Given the description of an element on the screen output the (x, y) to click on. 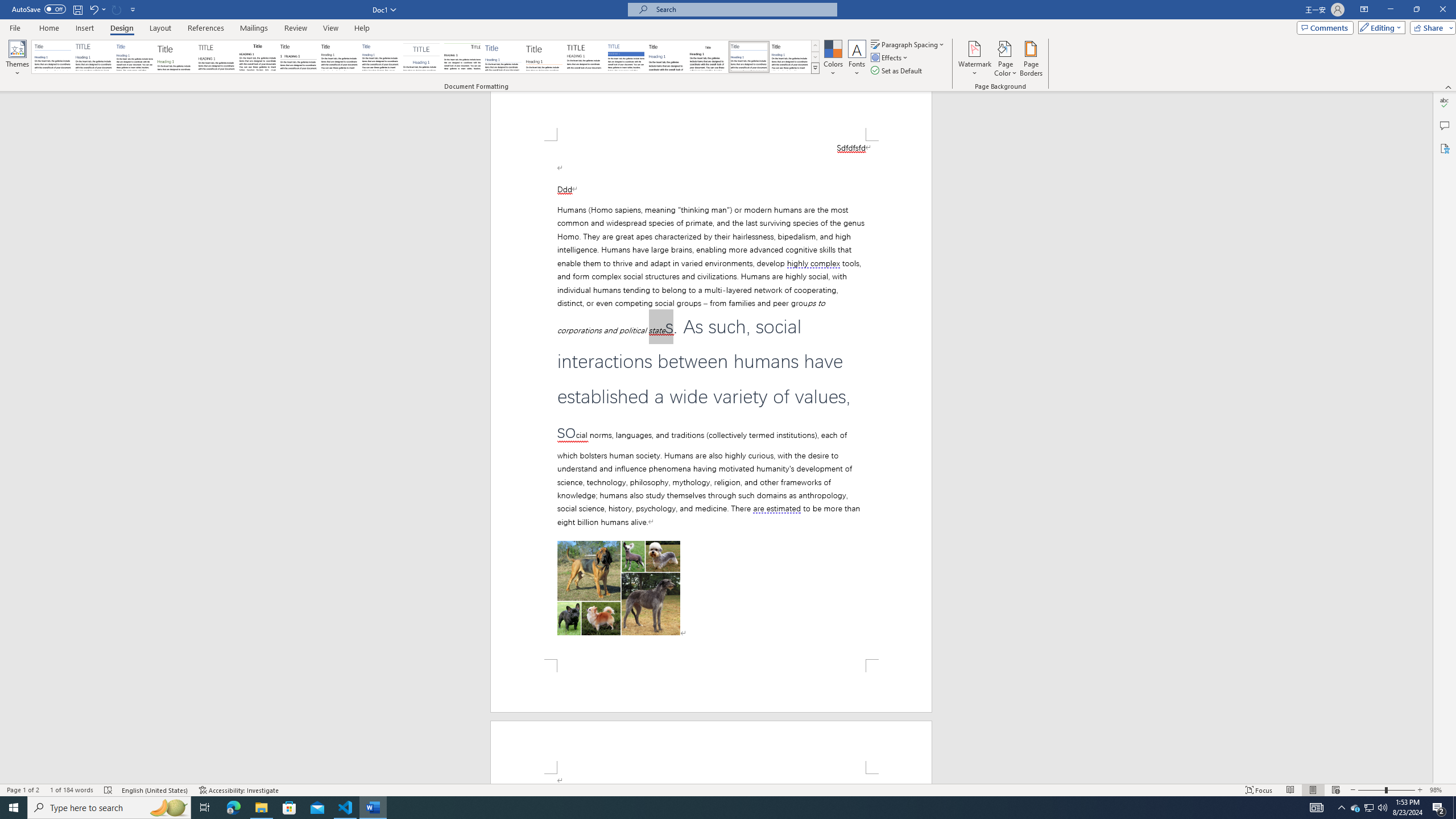
Basic (Simple) (135, 56)
Basic (Elegant) (93, 56)
Lines (Distinctive) (462, 56)
Undo Apply Quick Style Set (92, 9)
Set as Default (897, 69)
Page Borders... (1031, 58)
Page 1 content (710, 399)
